Given the description of an element on the screen output the (x, y) to click on. 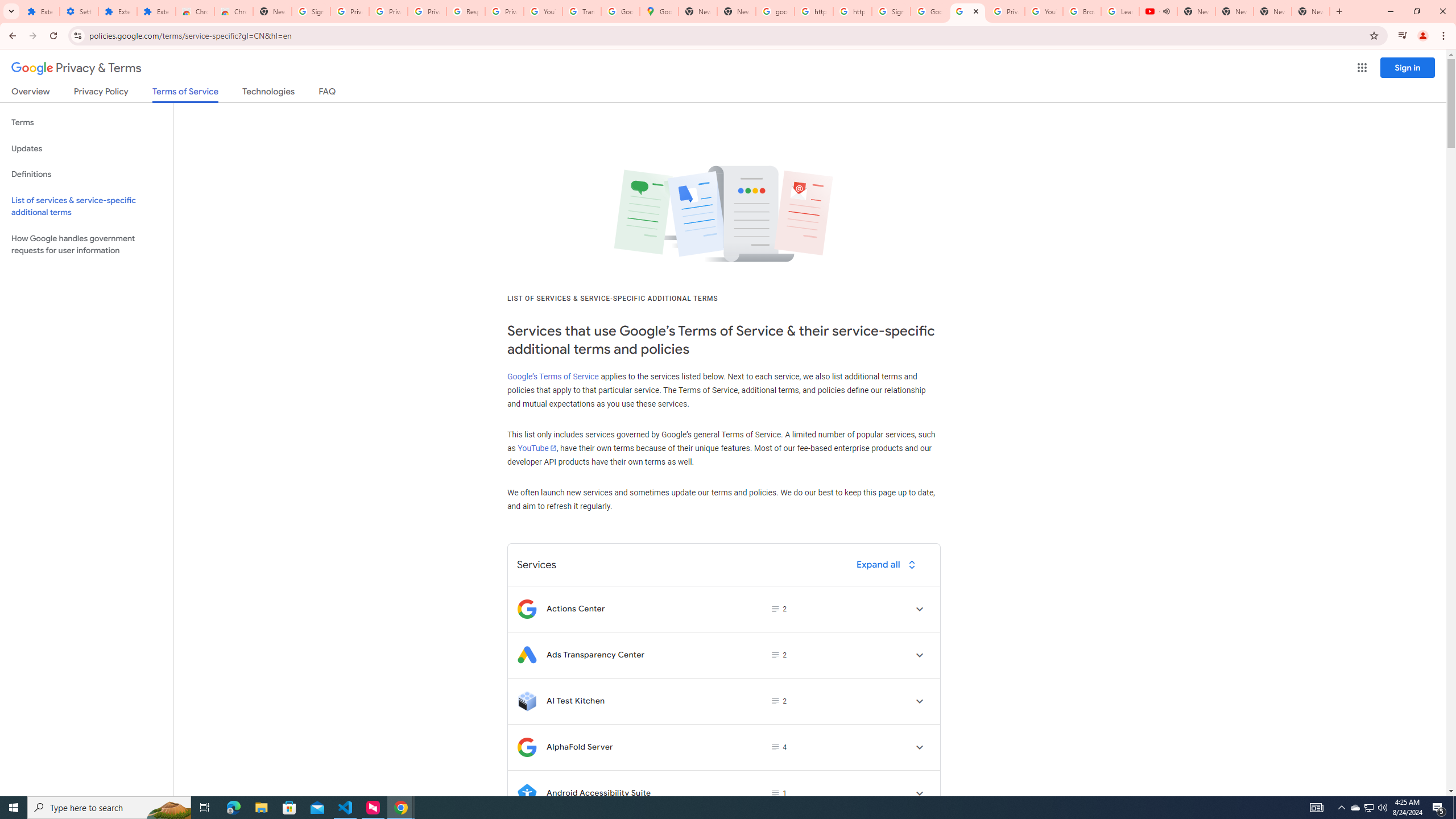
Chrome Web Store - Themes (233, 11)
YouTube (1043, 11)
https://scholar.google.com/ (813, 11)
